Given the description of an element on the screen output the (x, y) to click on. 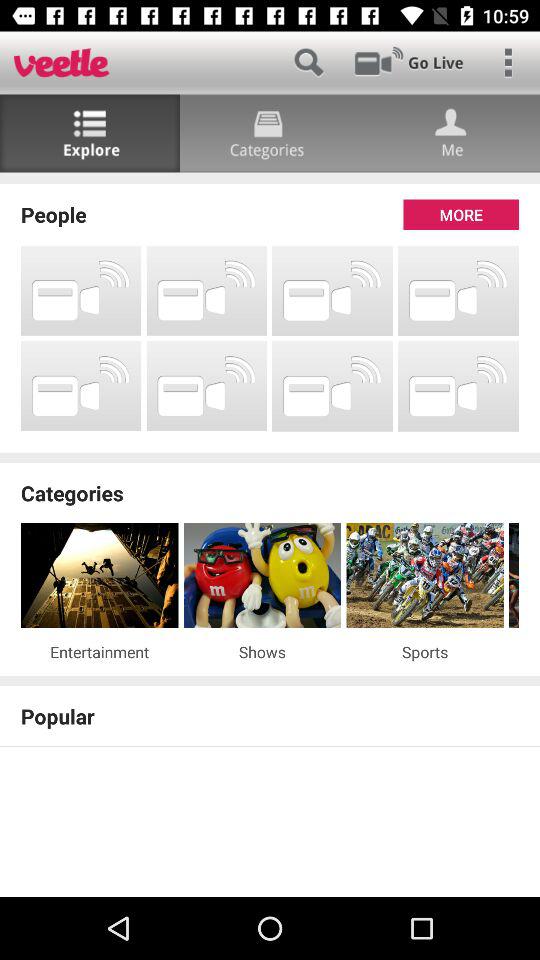
open options menu (508, 62)
